Given the description of an element on the screen output the (x, y) to click on. 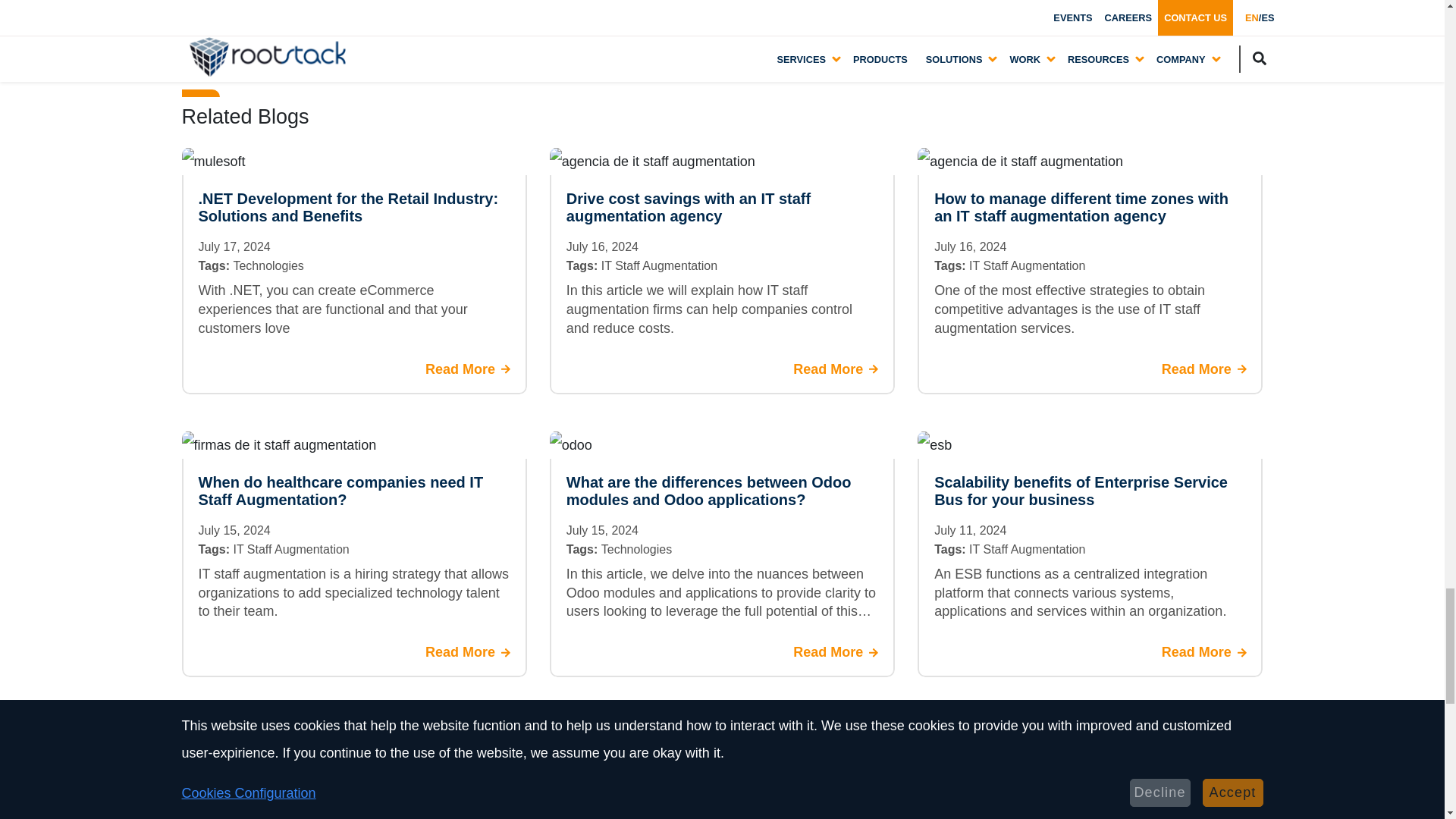
YouTube video player (670, 15)
firmas de it staff augmentation (279, 444)
odoo (571, 444)
agencia de it staff augmentation (1019, 161)
esb (934, 444)
Read More (835, 369)
mulesoft (214, 161)
Read More (468, 369)
Read More (1203, 369)
agencia de it staff augmentation (652, 161)
Read More (468, 652)
